Given the description of an element on the screen output the (x, y) to click on. 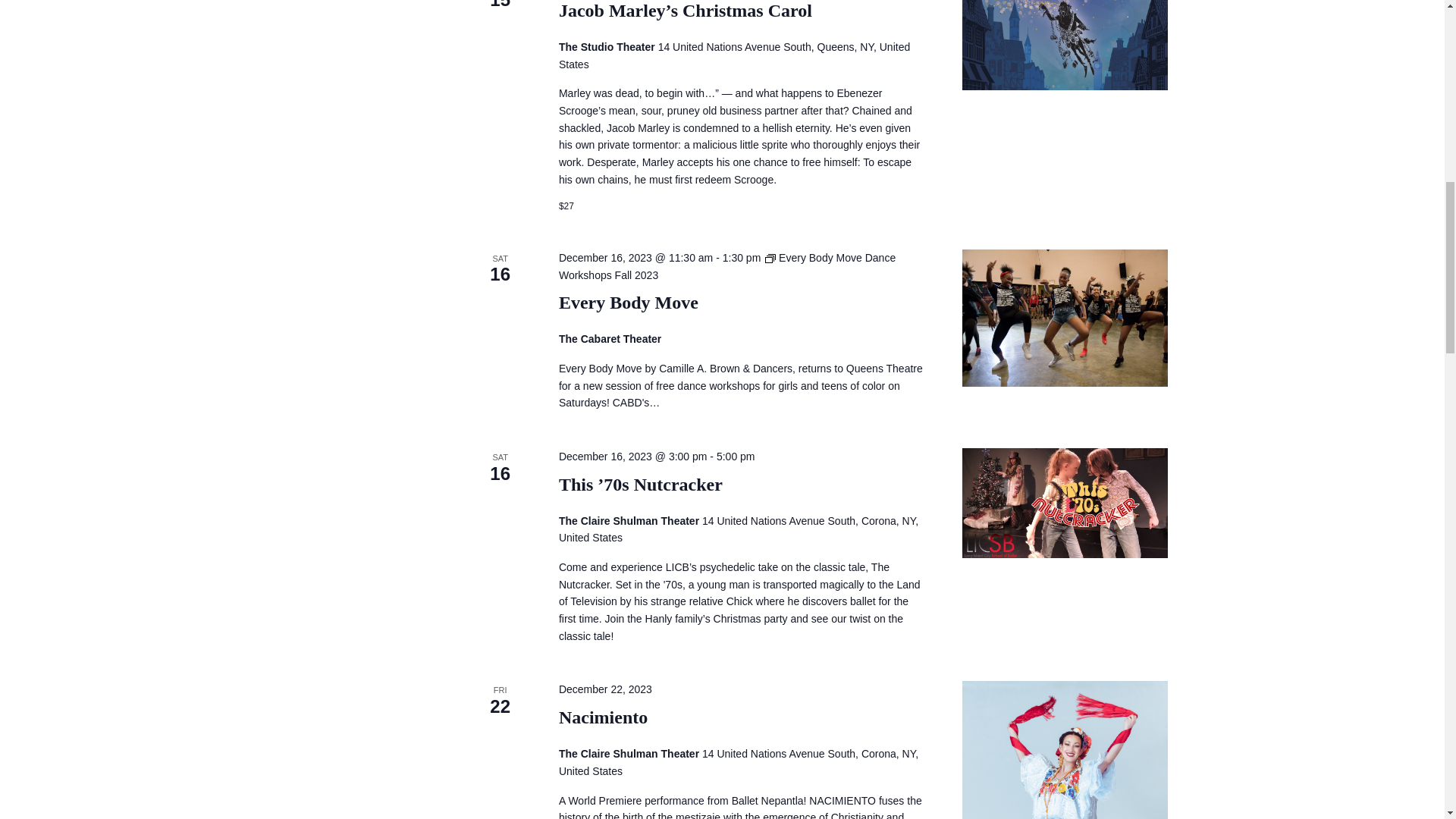
Event Series (770, 257)
Every Body Move (1064, 317)
